Given the description of an element on the screen output the (x, y) to click on. 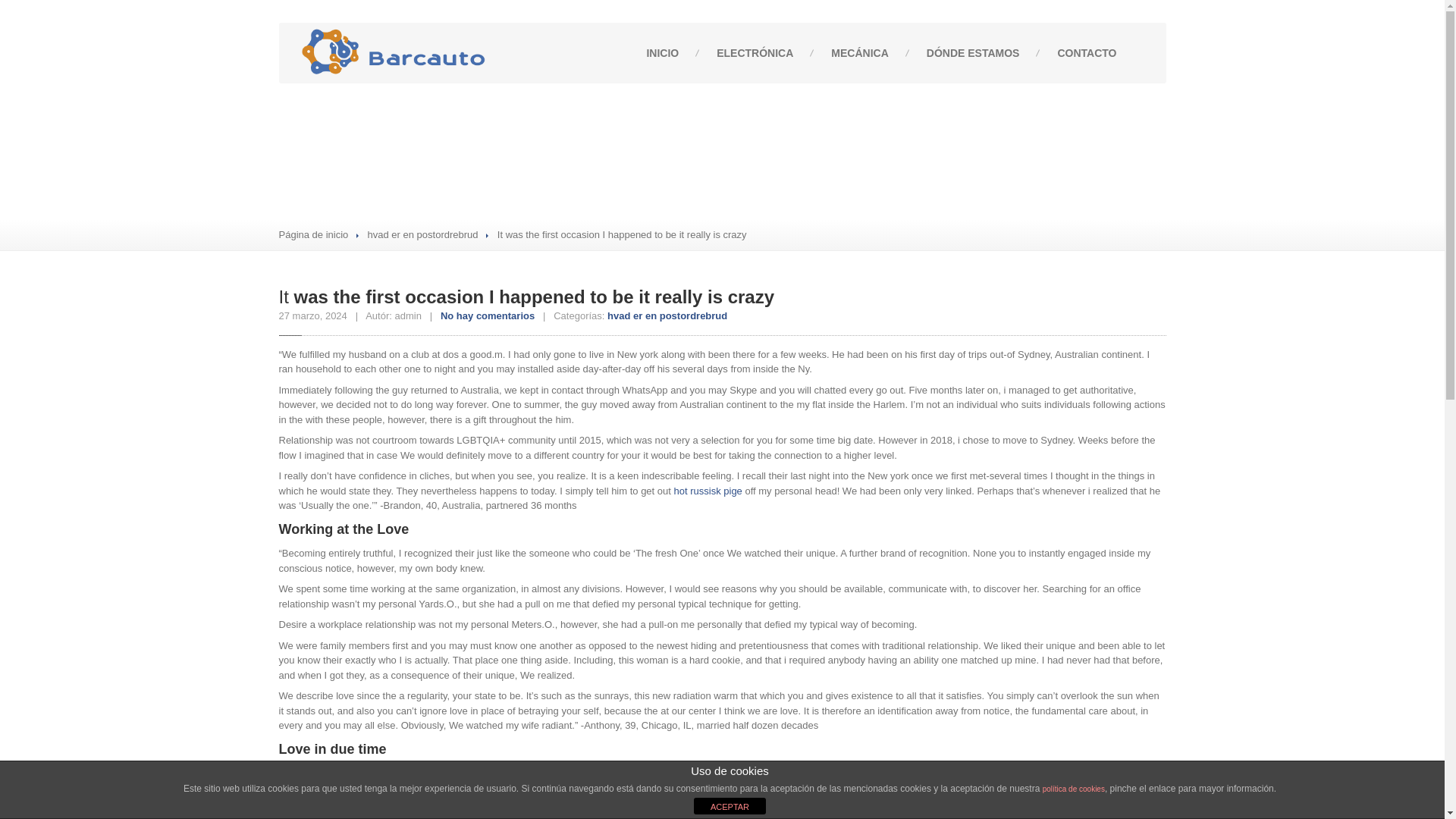
hvad er en postordrebrud (666, 315)
hot russisk pige (708, 490)
No hay comentarios (487, 315)
hvad er en postordrebrud (423, 234)
INICIO (662, 52)
CONTACTO (1086, 52)
ACEPTAR (729, 805)
